Given the description of an element on the screen output the (x, y) to click on. 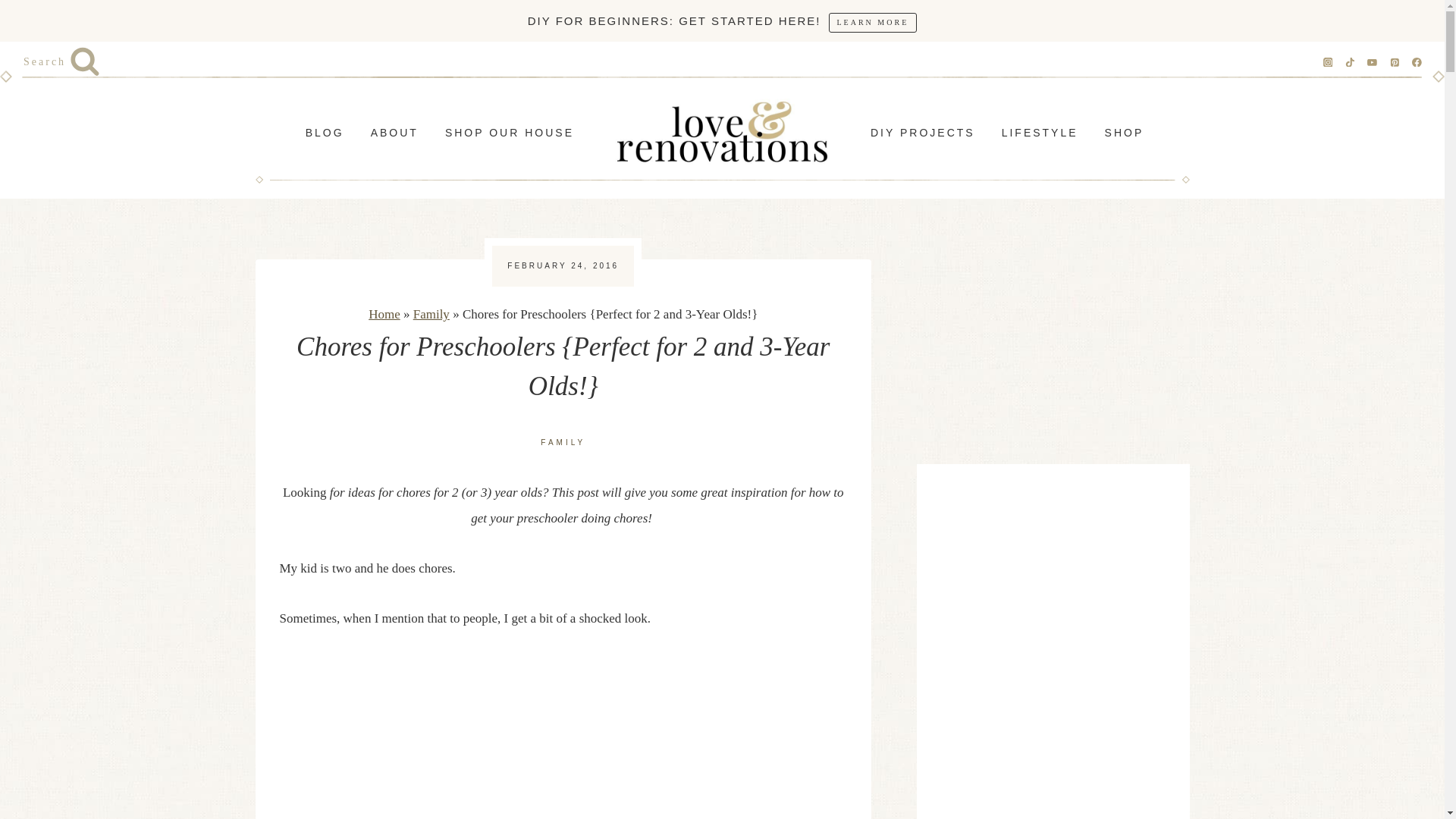
LIFESTYLE (1039, 132)
Family (431, 314)
SHOP OUR HOUSE (508, 132)
Search (60, 61)
FAMILY (562, 442)
ABOUT (393, 132)
DIY PROJECTS (922, 132)
Home (384, 314)
LEARN MORE (872, 21)
BLOG (324, 132)
SHOP (1123, 132)
